Given the description of an element on the screen output the (x, y) to click on. 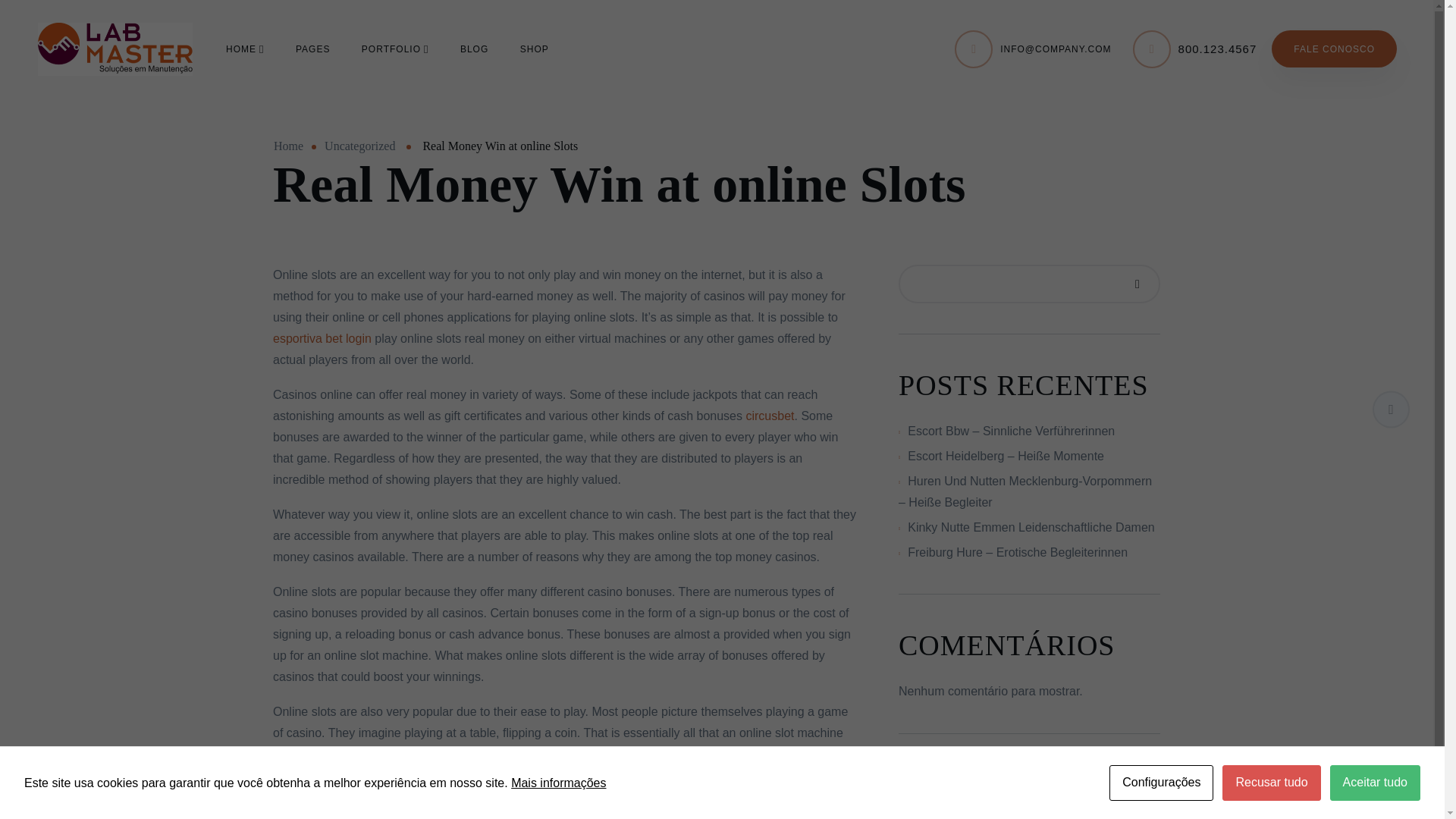
Kinky Nutte Emmen Leidenschaftliche Damen (1030, 526)
PAGES (312, 48)
circusbet (769, 415)
HOME (244, 48)
BLOG (473, 48)
800.123.4567 (1217, 48)
lab (114, 49)
SHOP (533, 48)
esportiva bet login (322, 338)
Home (288, 145)
PORTFOLIO (395, 48)
FALE CONOSCO (1333, 48)
Uncategorized (359, 145)
